Given the description of an element on the screen output the (x, y) to click on. 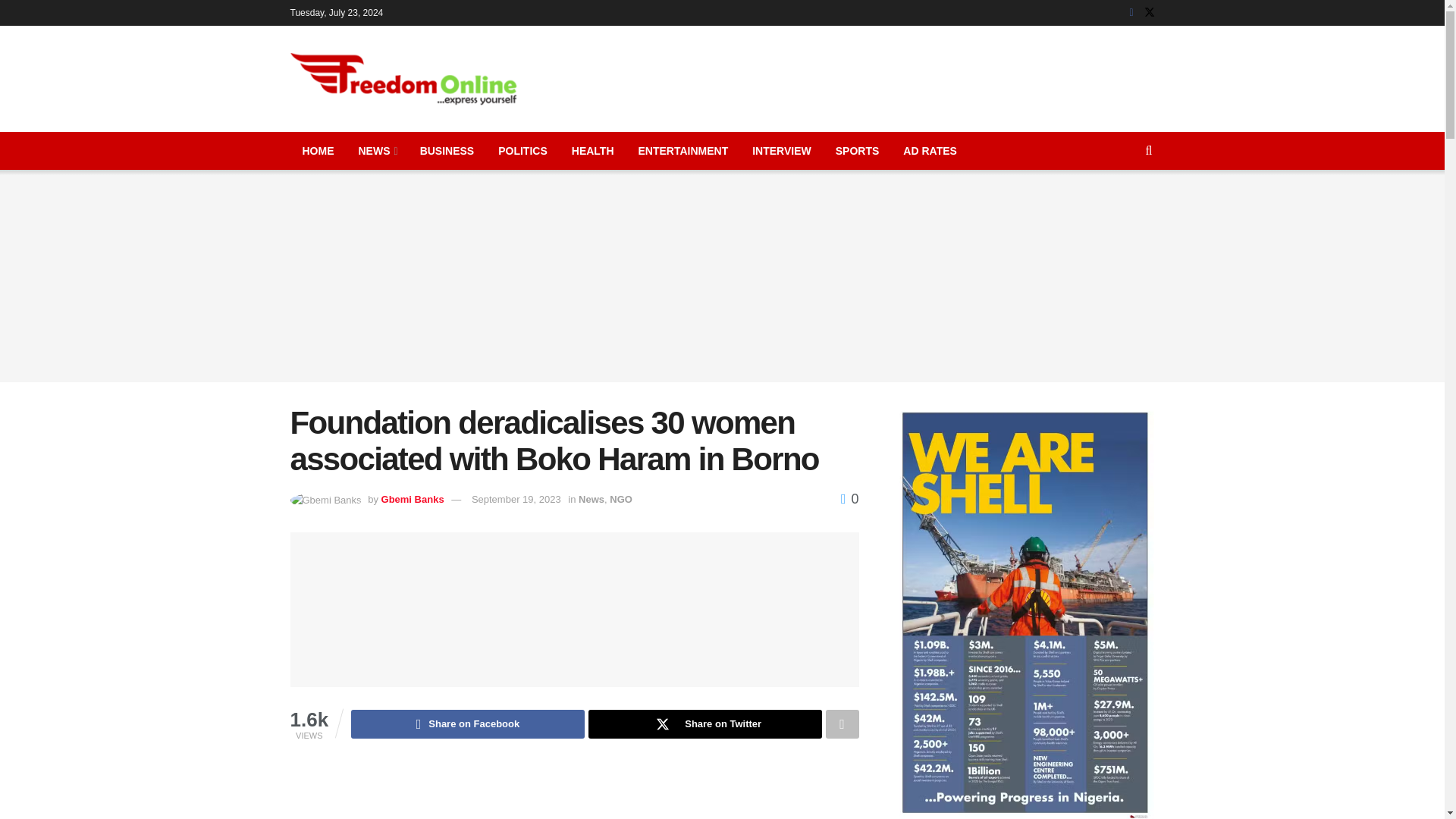
Advertisement (574, 791)
News (591, 499)
SPORTS (857, 150)
AD RATES (930, 150)
HEALTH (592, 150)
NGO (620, 499)
NEWS (376, 150)
INTERVIEW (781, 150)
BUSINESS (446, 150)
ENTERTAINMENT (683, 150)
HOME (317, 150)
0 (850, 498)
Advertisement (878, 76)
September 19, 2023 (515, 499)
